Given the description of an element on the screen output the (x, y) to click on. 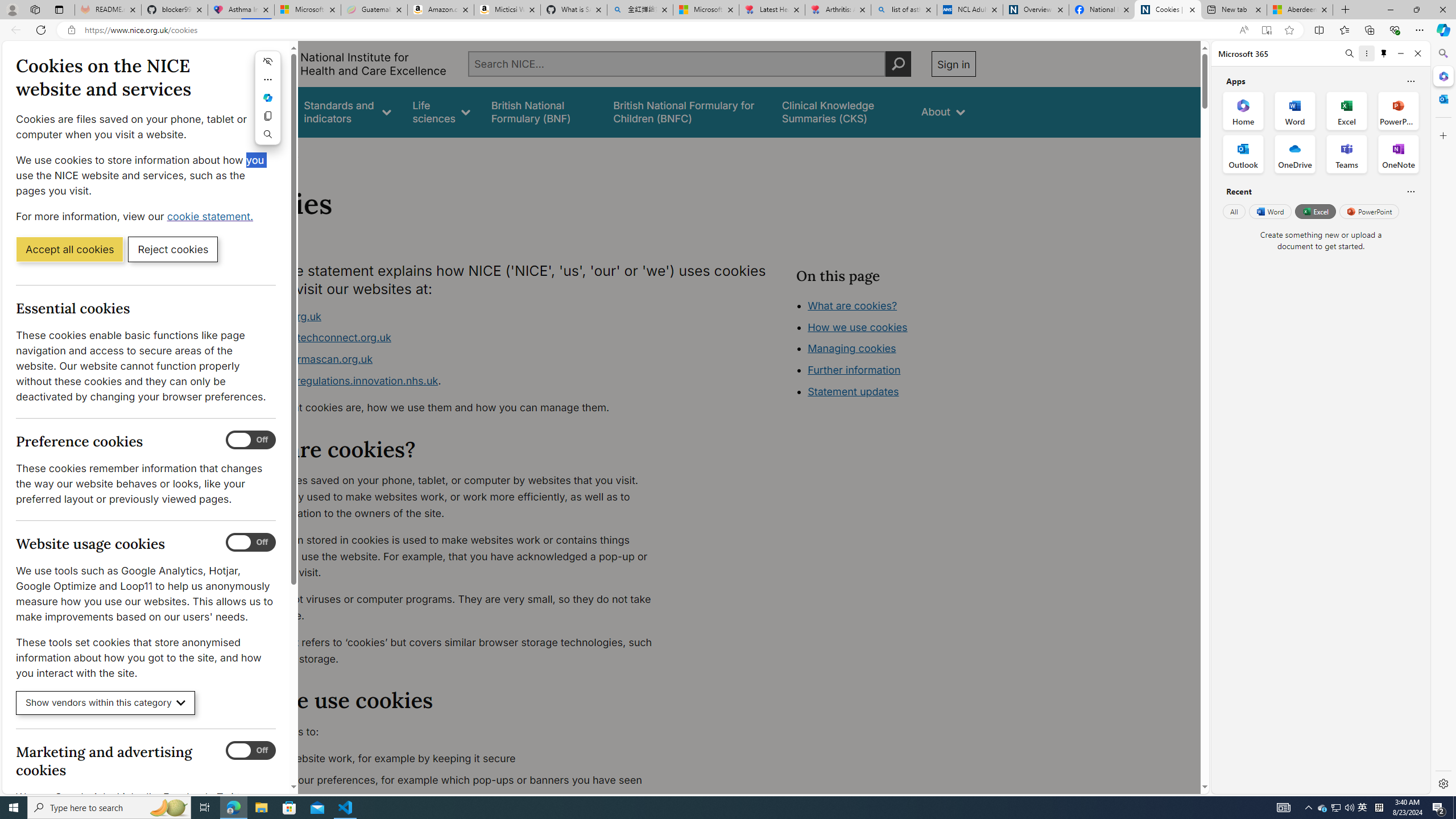
www.nice.org.uk (452, 316)
Word (1269, 210)
Further information (854, 369)
make our website work, for example by keeping it secure (452, 759)
Preference cookies (250, 439)
PowerPoint (1369, 210)
Word Office App (1295, 110)
Life sciences (440, 111)
Guidance (260, 111)
